Given the description of an element on the screen output the (x, y) to click on. 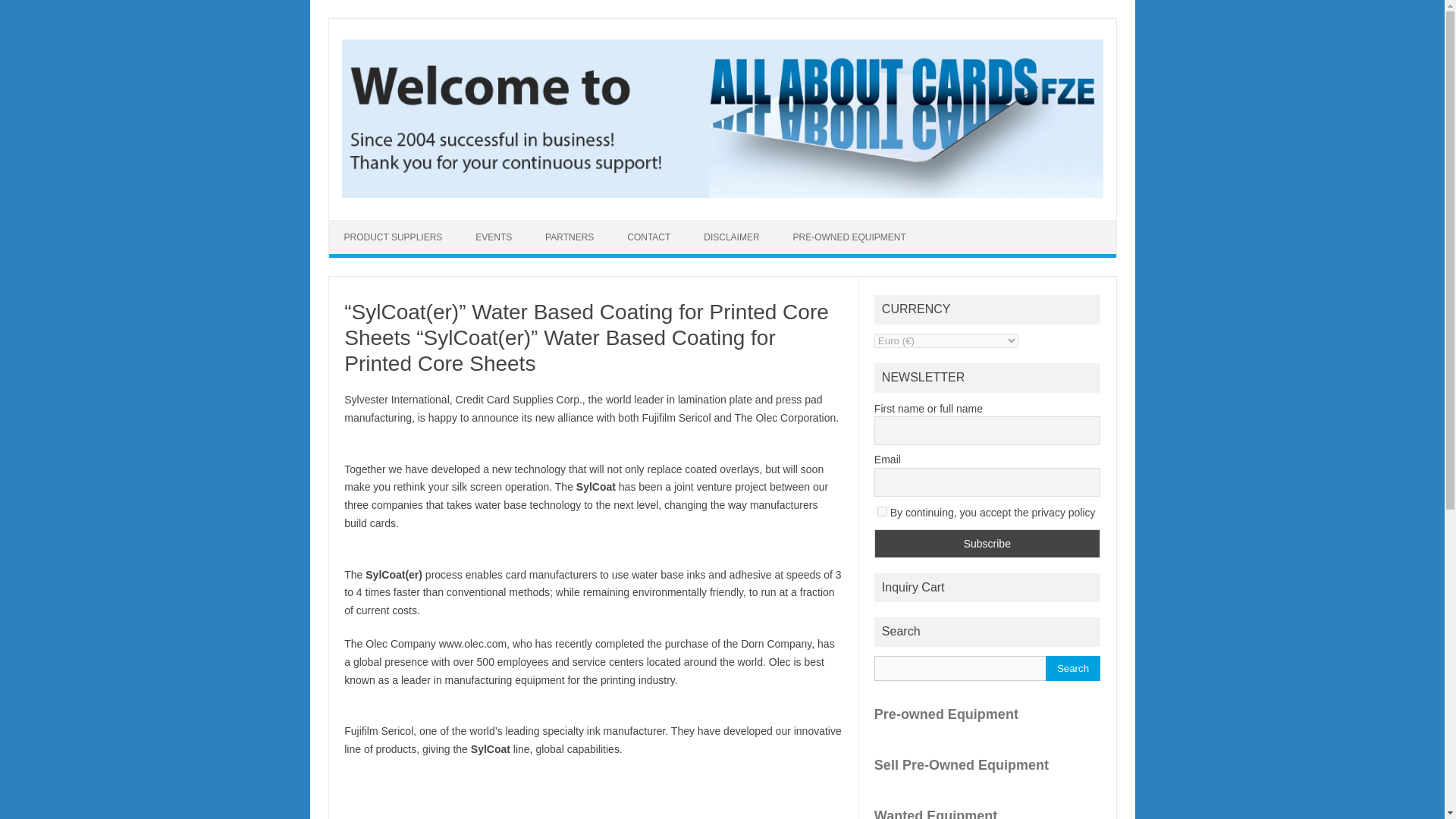
Wanted Equipment (987, 812)
Skip to content (363, 225)
Search (1072, 668)
PRE-OWNED EQUIPMENT (849, 236)
Subscribe (987, 543)
PRODUCT SUPPLIERS (393, 236)
DISCLAIMER (731, 236)
on (881, 511)
Pre-owned Equipment (987, 714)
Subscribe (987, 543)
